Given the description of an element on the screen output the (x, y) to click on. 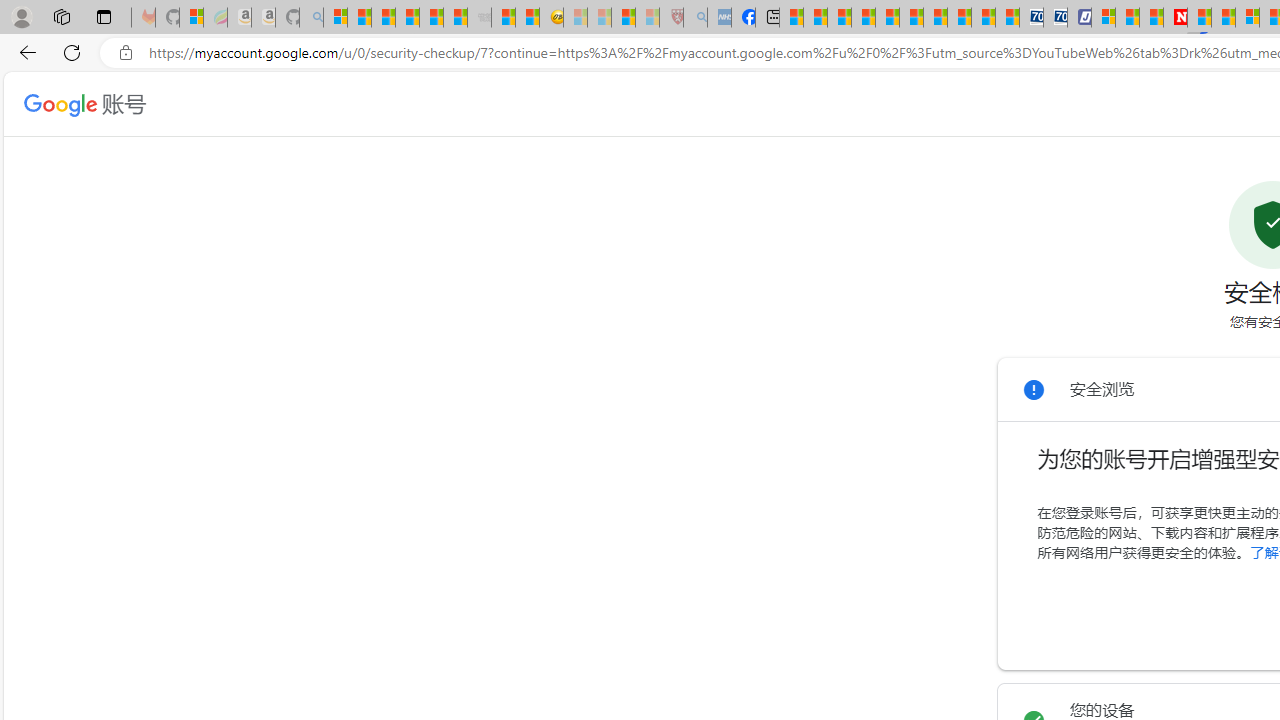
Stocks - MSN (455, 17)
New Report Confirms 2023 Was Record Hot | Watch (430, 17)
12 Popular Science Lies that Must be Corrected - Sleeping (647, 17)
Cheap Hotels - Save70.com (1055, 17)
Cheap Car Rentals - Save70.com (1031, 17)
MSNBC - MSN (790, 17)
